Given the description of an element on the screen output the (x, y) to click on. 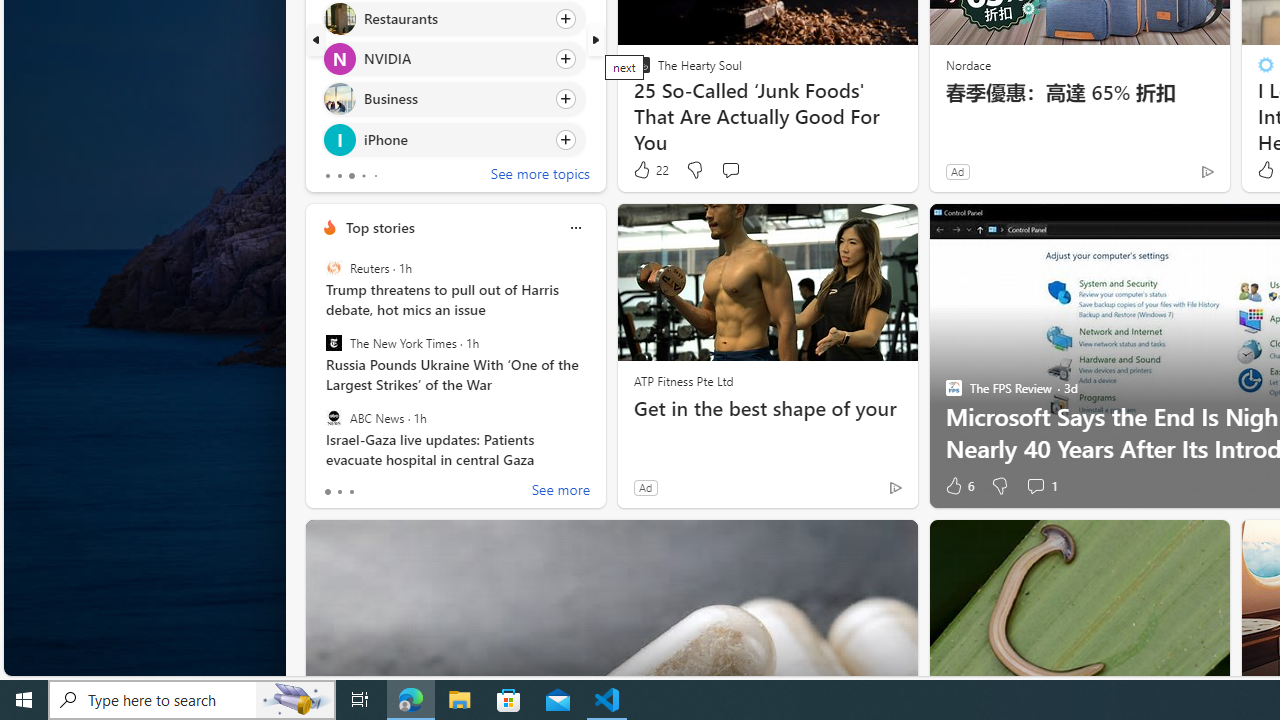
tab-3 (363, 175)
Reuters (333, 268)
tab-1 (338, 491)
Class: icon-img (575, 228)
tab-0 (327, 491)
Get in the best shape of your (767, 408)
Click to follow topic iPhone (453, 138)
Click to follow topic NVIDIA (453, 59)
tab-2 (351, 491)
Click to follow topic Restaurants (453, 18)
